Given the description of an element on the screen output the (x, y) to click on. 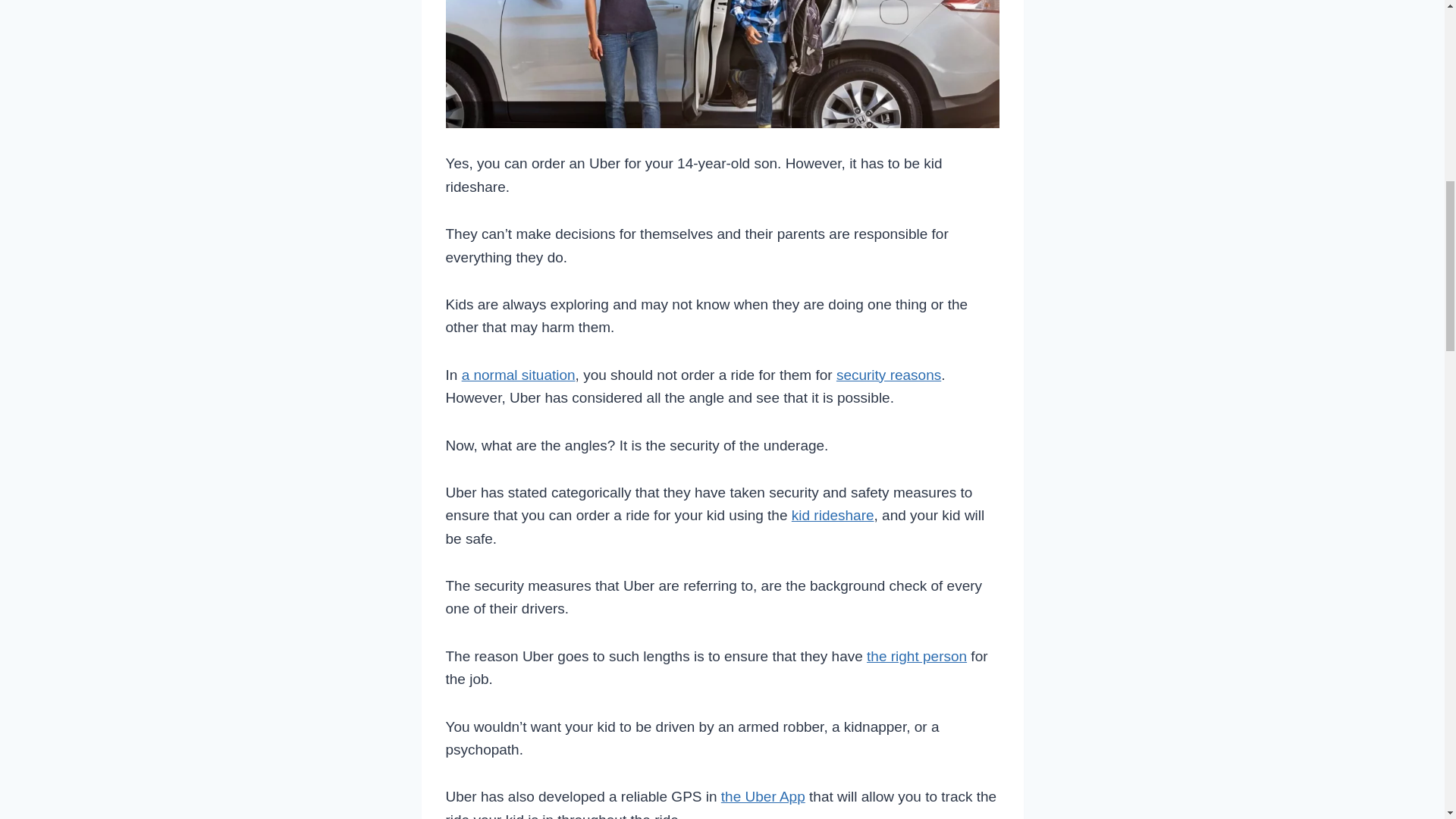
security reasons (887, 374)
kid rideshare (833, 514)
the Uber App (762, 796)
a normal situation (518, 374)
the right person (916, 656)
